Given the description of an element on the screen output the (x, y) to click on. 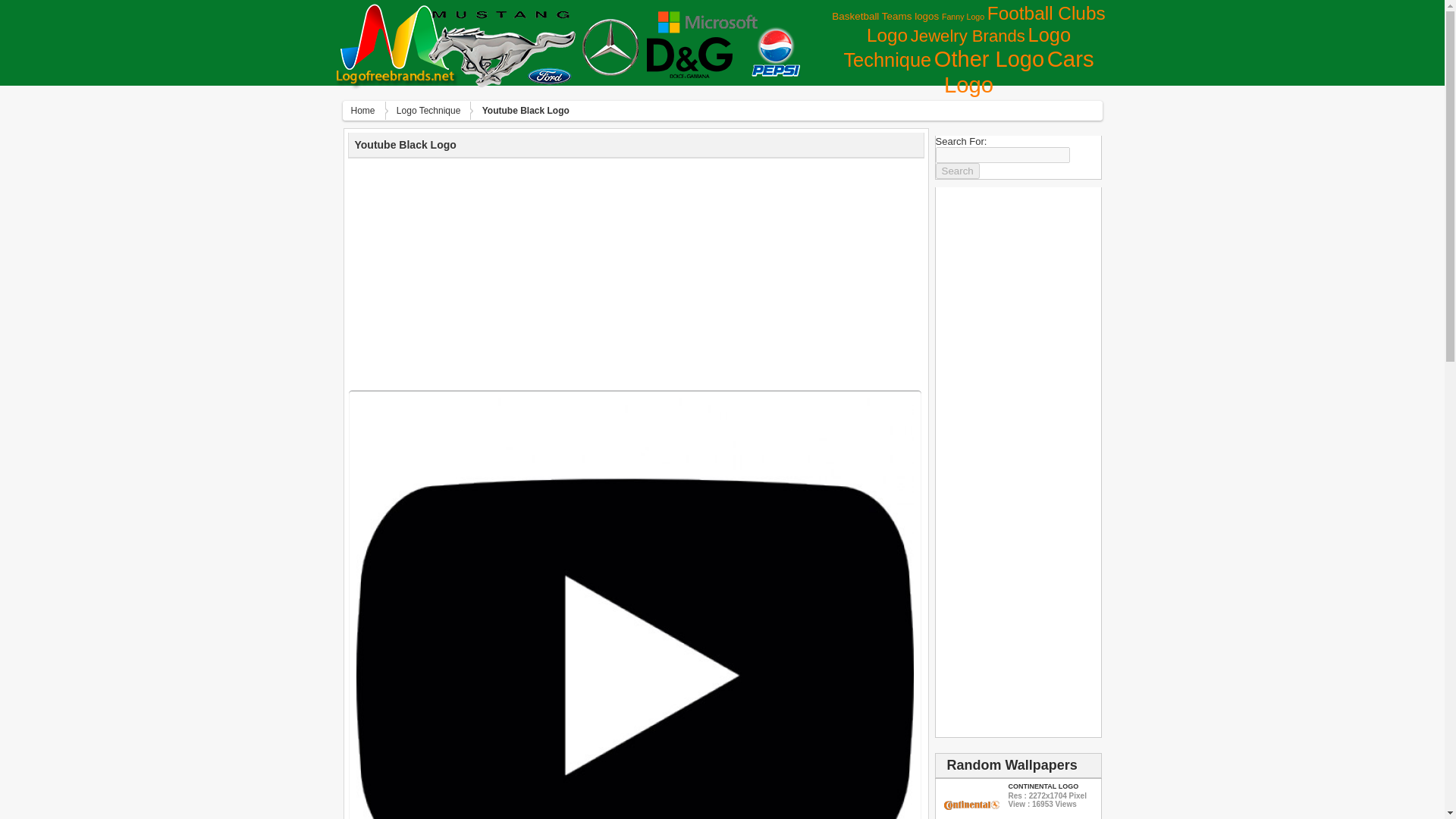
772 topics (988, 58)
Basketball Teams logos (885, 16)
12 topics (963, 16)
Football Clubs Logo (985, 24)
Fanny Logo (963, 16)
Home (370, 110)
Logo Technique (436, 110)
Search (957, 170)
23 topics (885, 16)
Jewelry Brands (968, 35)
835 topics (1018, 71)
Search (957, 170)
Other Logo (988, 58)
Logo Technique (956, 47)
